Given the description of an element on the screen output the (x, y) to click on. 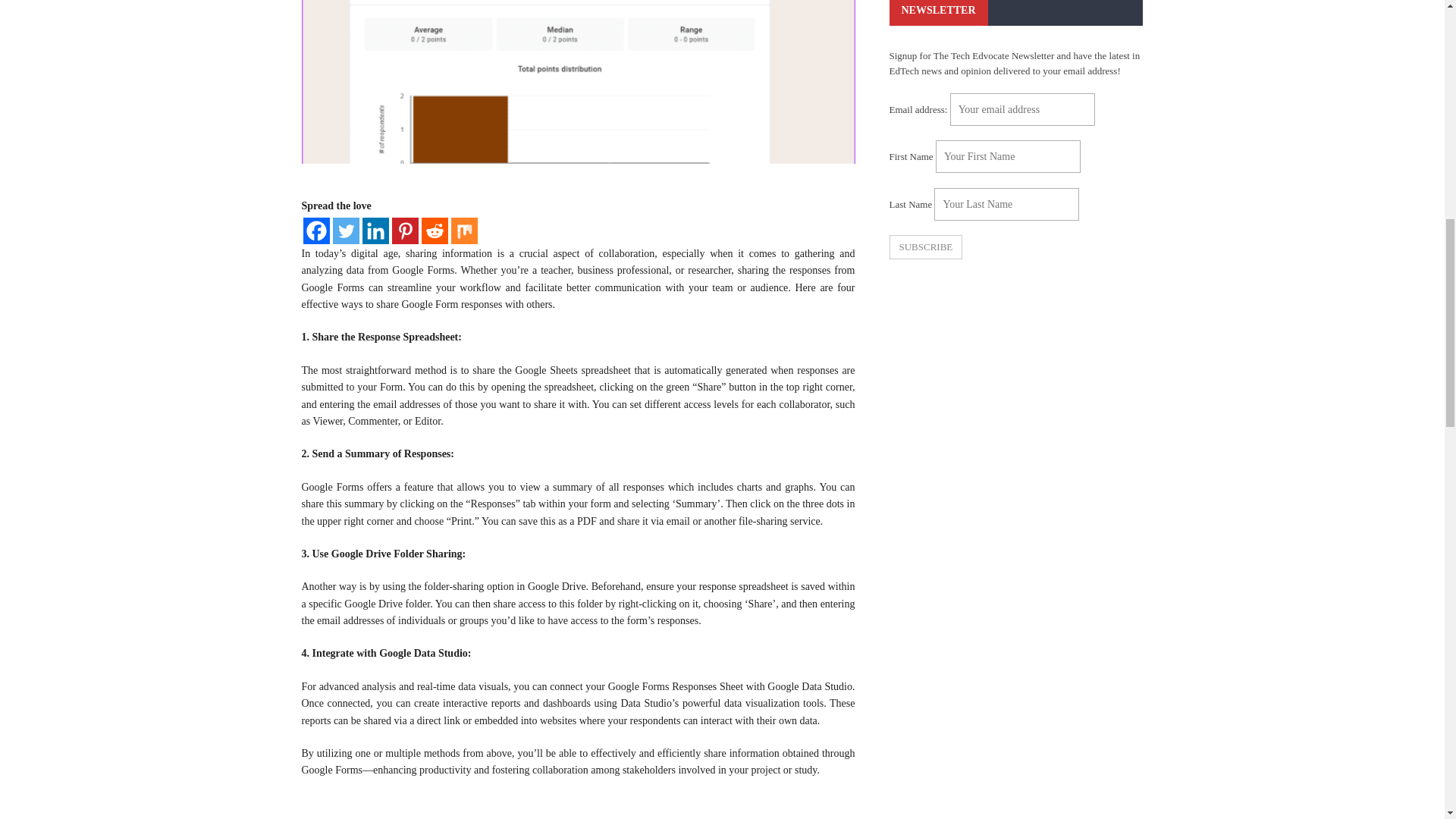
Subscribe (925, 247)
Pinterest (404, 230)
Linkedin (375, 230)
Advertisement (578, 807)
Mix (463, 230)
Reddit (435, 230)
Twitter (344, 230)
Facebook (316, 230)
Advertisement (1015, 390)
